Given the description of an element on the screen output the (x, y) to click on. 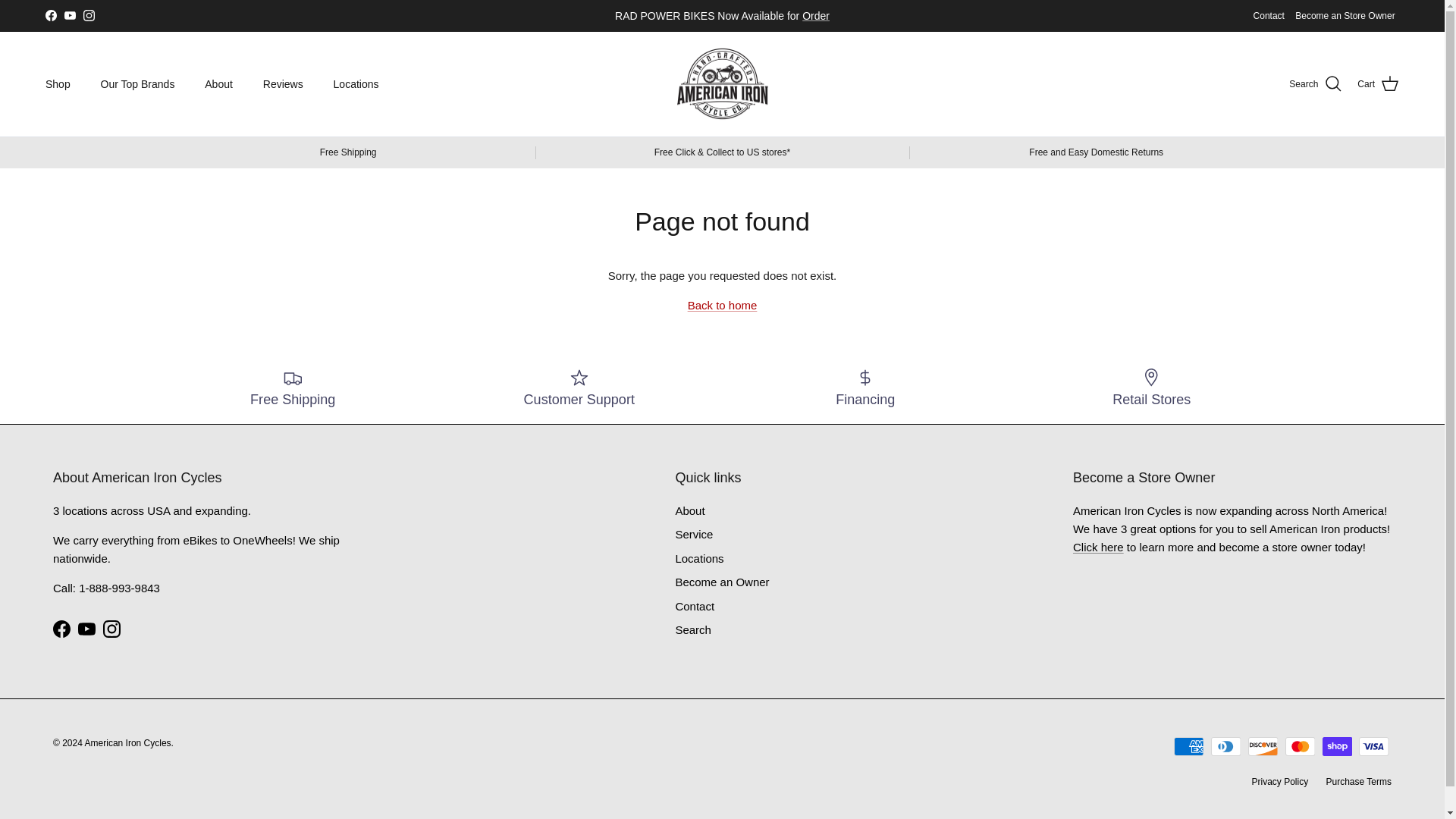
Contact (1268, 15)
Locations (356, 83)
Order (815, 15)
YouTube (69, 15)
Visa (1373, 746)
Reviews (282, 83)
Cart (1377, 84)
American Iron Cycles (722, 84)
Shop Pay (1337, 746)
American Iron Cycles on Facebook (50, 15)
